Given the description of an element on the screen output the (x, y) to click on. 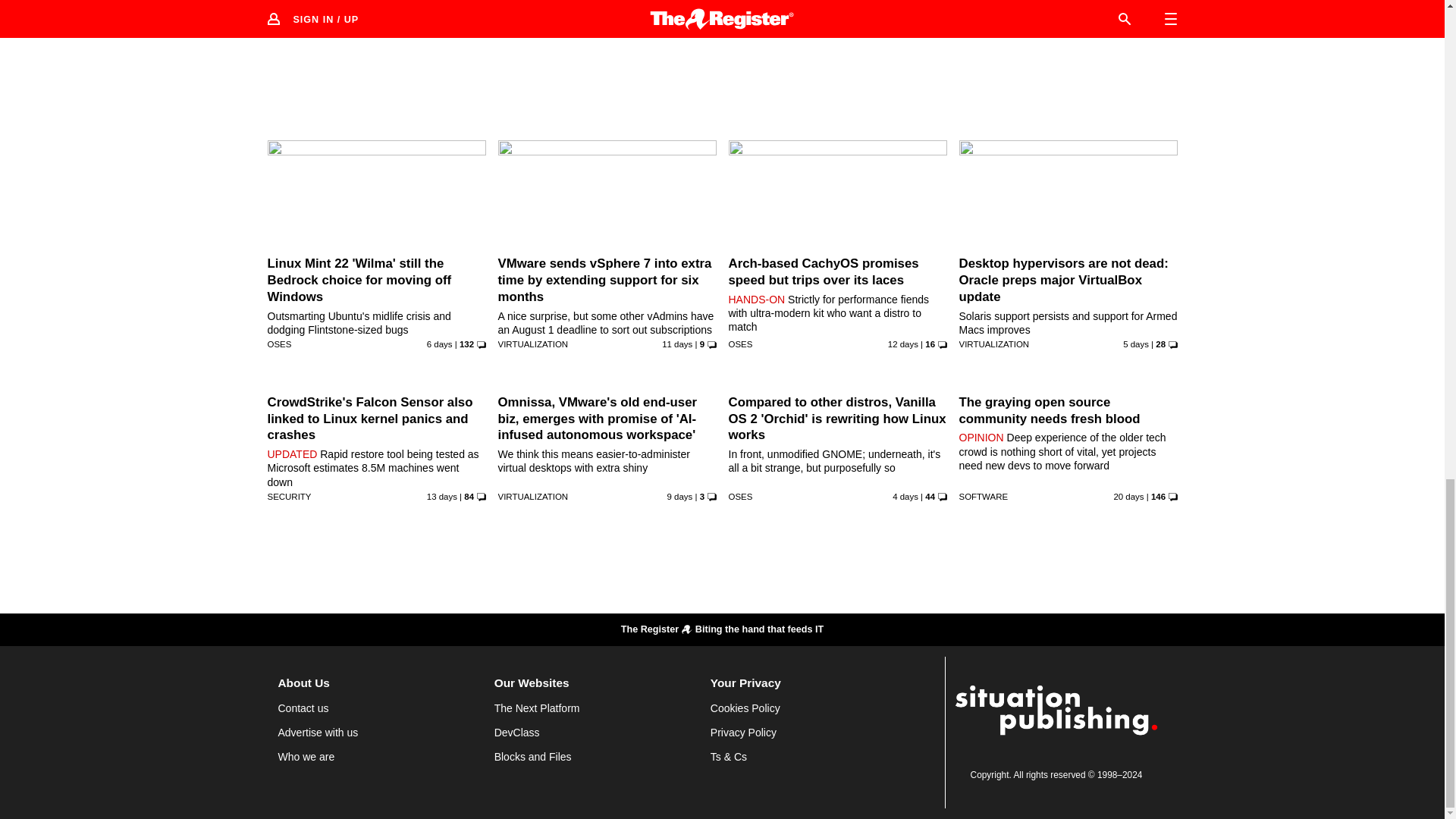
21 Jul 2024 23:51 (441, 496)
1 Aug 2024 8:29 (674, 7)
26 Jul 2024 5:19 (679, 496)
22 Jul 2024 4:45 (445, 7)
24 Jul 2024 3:48 (677, 343)
15 Jul 2024 10:28 (1127, 496)
30 Jul 2024 5:45 (1135, 343)
23 Jul 2024 11:27 (903, 343)
31 Jul 2024 9:28 (905, 496)
1 Aug 2024 5:25 (910, 7)
29 Jul 2024 10:33 (439, 343)
